Given the description of an element on the screen output the (x, y) to click on. 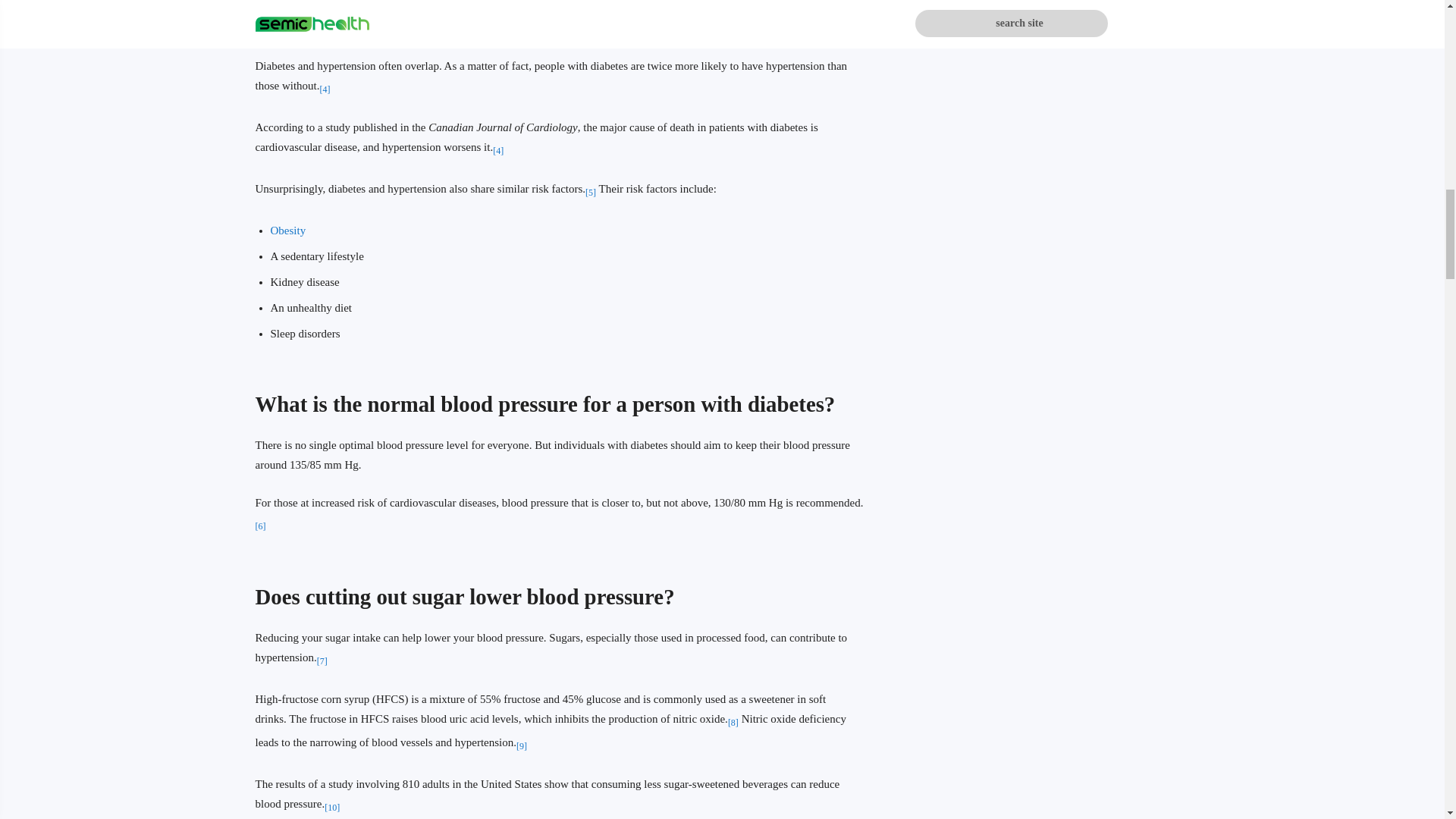
Obesity (287, 230)
